Given the description of an element on the screen output the (x, y) to click on. 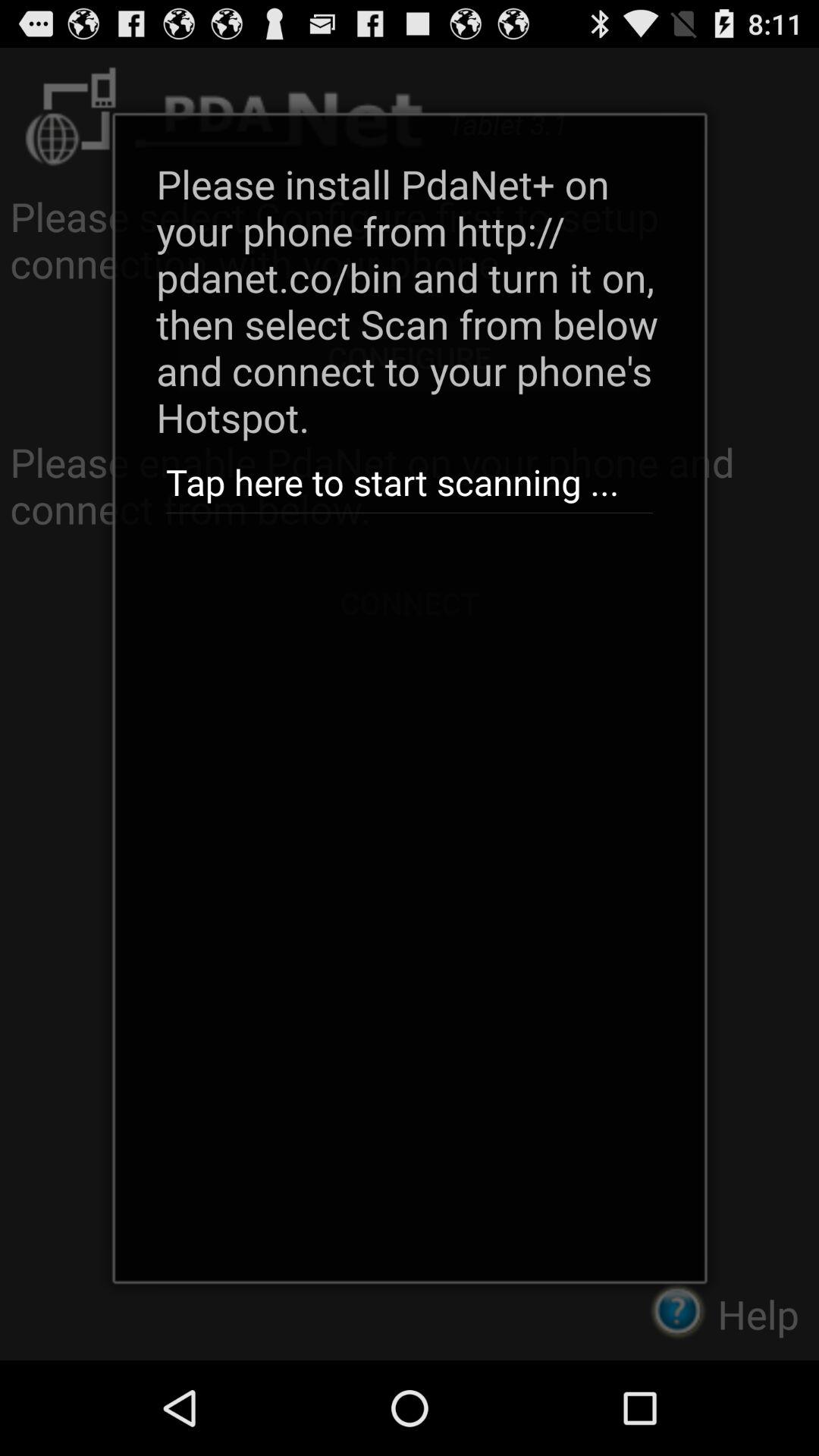
choose the item below please install pdanet (409, 482)
